Given the description of an element on the screen output the (x, y) to click on. 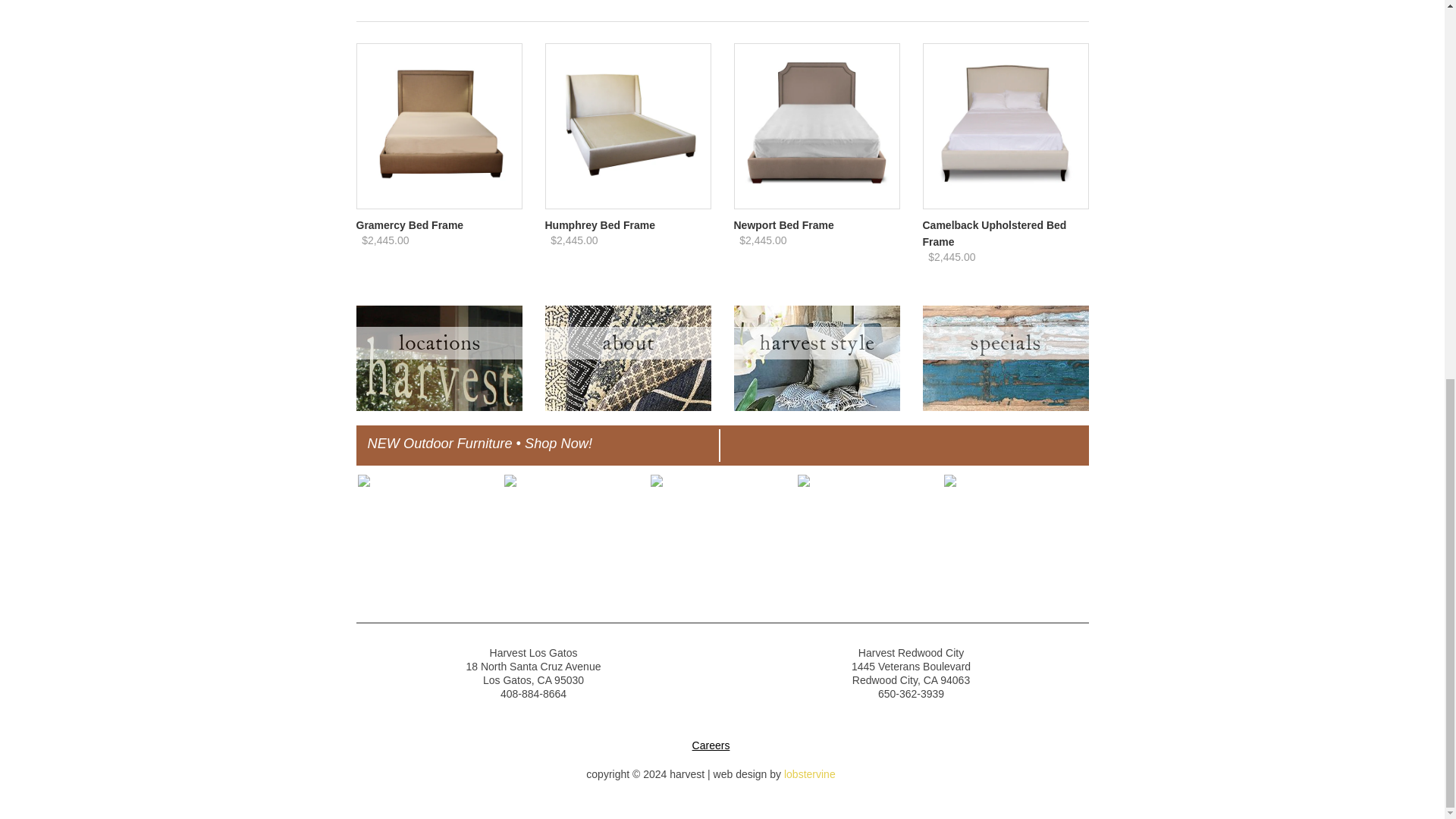
harvest style (816, 407)
about (627, 407)
locations (439, 407)
specials (1004, 407)
